Given the description of an element on the screen output the (x, y) to click on. 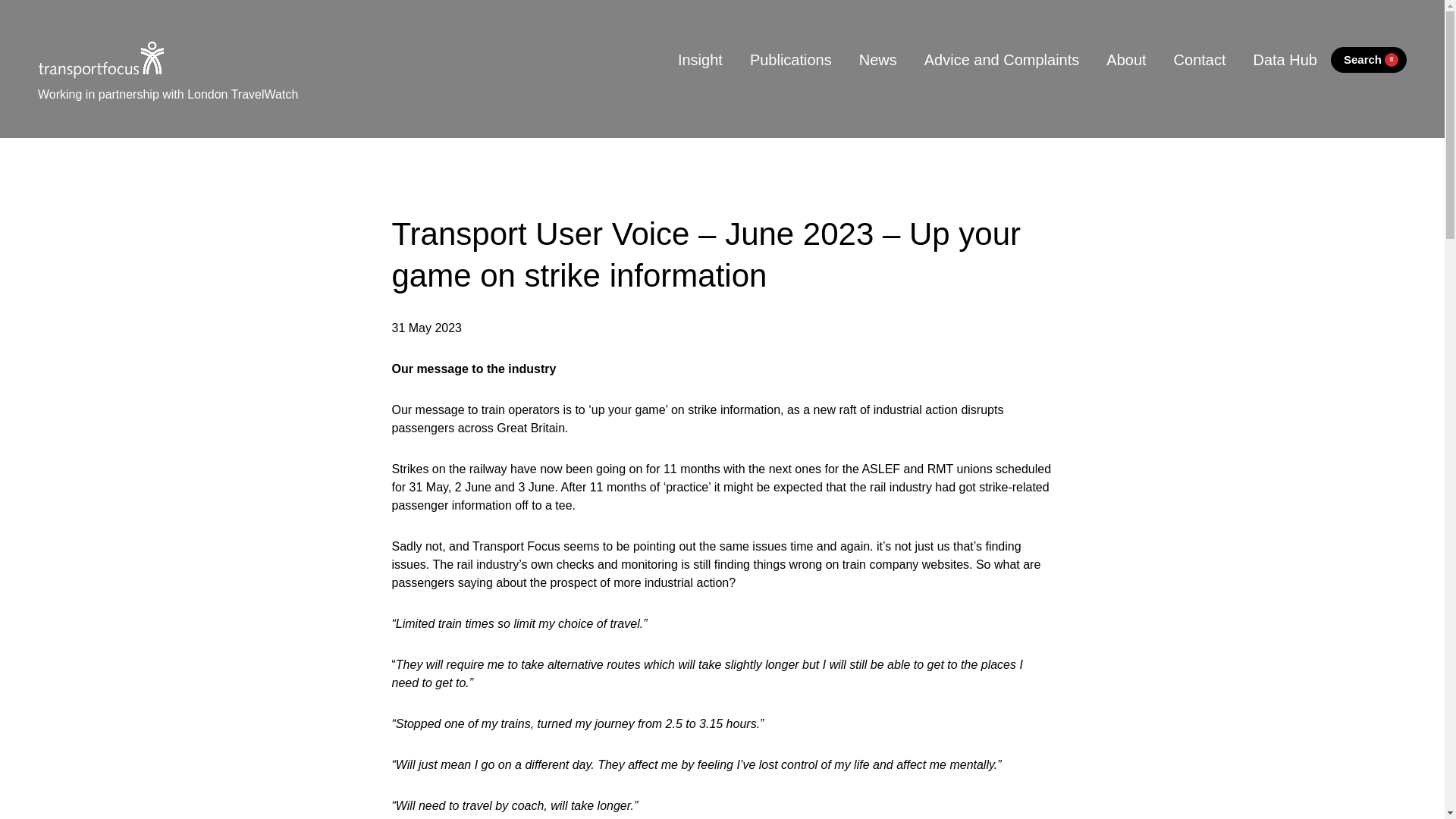
Publications (790, 59)
Search (1368, 59)
Advice and Complaints (1002, 59)
About (1125, 59)
Working in partnership with London TravelWatch (167, 91)
Contact (1200, 59)
Insight (699, 59)
News (878, 59)
Data Hub (1284, 59)
